Given the description of an element on the screen output the (x, y) to click on. 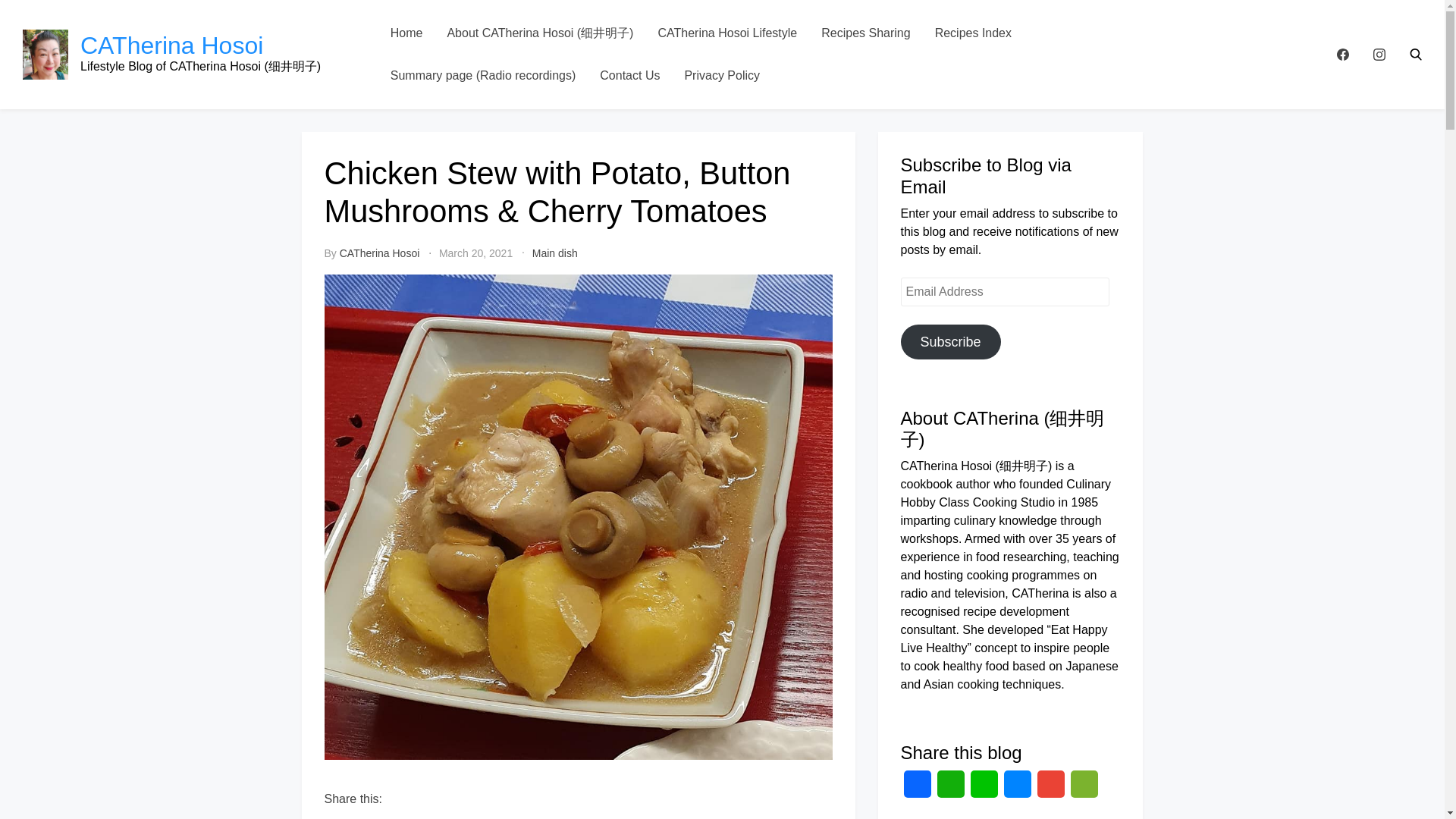
March 20, 2021 (475, 253)
Privacy Policy (721, 75)
Search (1415, 54)
Home (406, 33)
CATherina Hosoi Lifestyle (727, 33)
CATherina Hosoi (379, 253)
Recipes Index (973, 33)
Recipes Sharing (865, 33)
CATherina Hosoi (171, 44)
Main dish (555, 253)
